Given the description of an element on the screen output the (x, y) to click on. 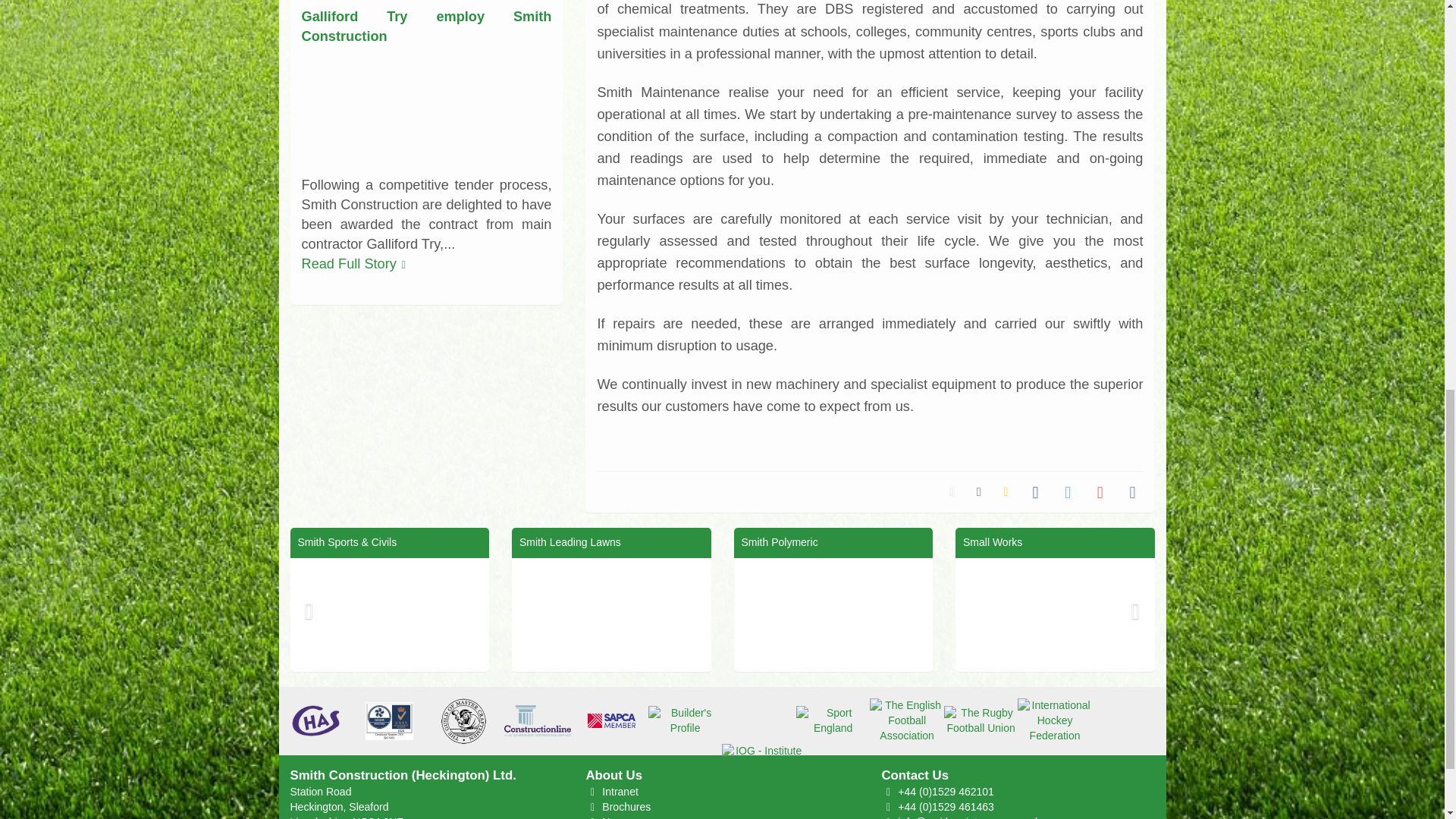
Go to Smith Polymeric (833, 614)
Galliford Try employ Smith Construction  (426, 110)
Print Page (974, 490)
Go to Smith Leading Lawns (611, 614)
Share this page (951, 491)
Go to Small Works (1054, 614)
Share on Twitter (1063, 490)
Share via Email (1001, 490)
Share on LinkedIn (1127, 490)
Share on Facebook (1030, 490)
